Given the description of an element on the screen output the (x, y) to click on. 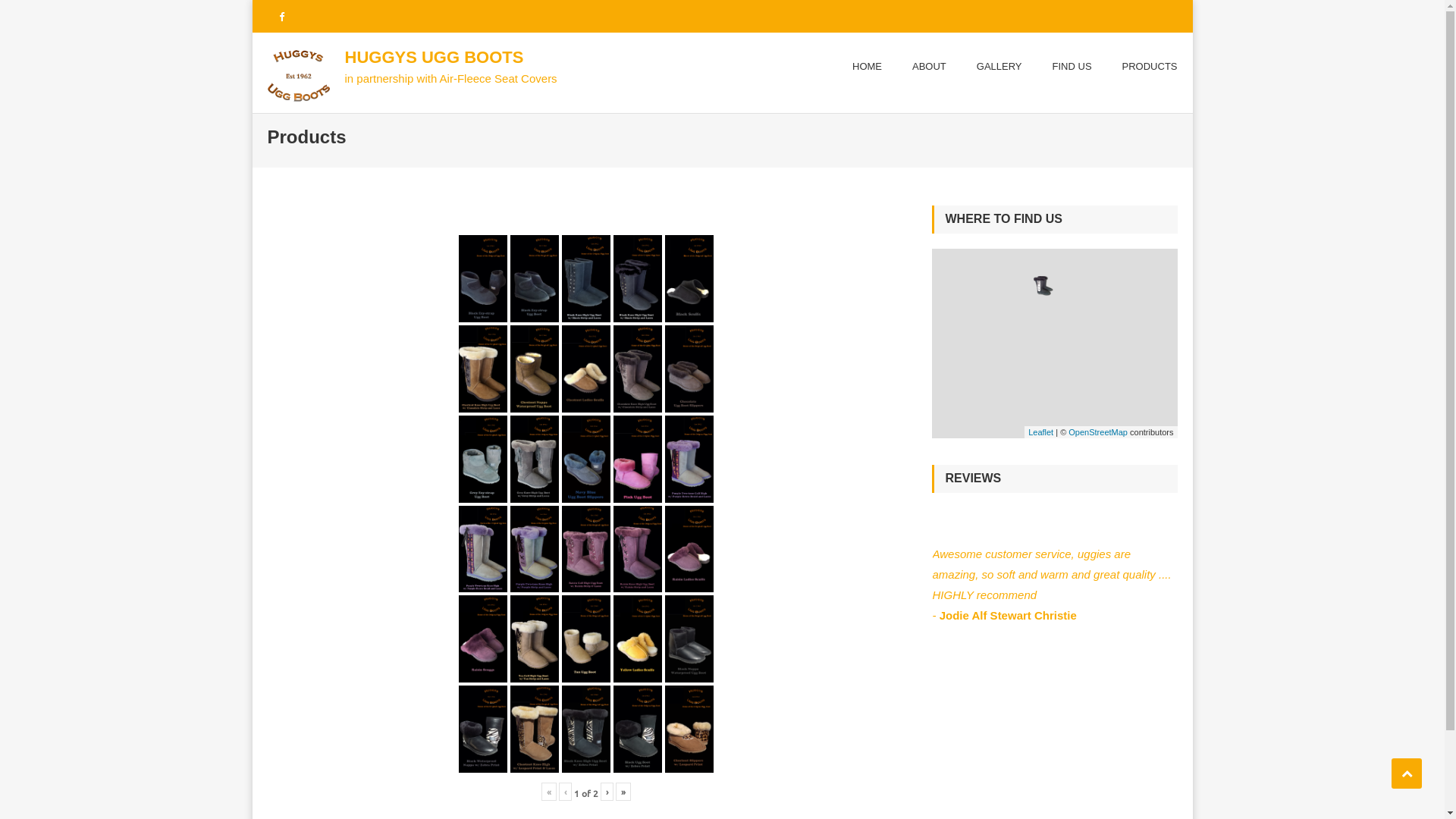
HOME Element type: text (866, 66)
Leaflet Element type: text (1040, 431)
GALLERY Element type: text (999, 66)
PRODUCTS Element type: text (1149, 66)
ABOUT Element type: text (929, 66)
OpenStreetMap Element type: text (1097, 431)
FIND US Element type: text (1072, 66)
HUGGYS UGG BOOTS Element type: text (433, 56)
